Given the description of an element on the screen output the (x, y) to click on. 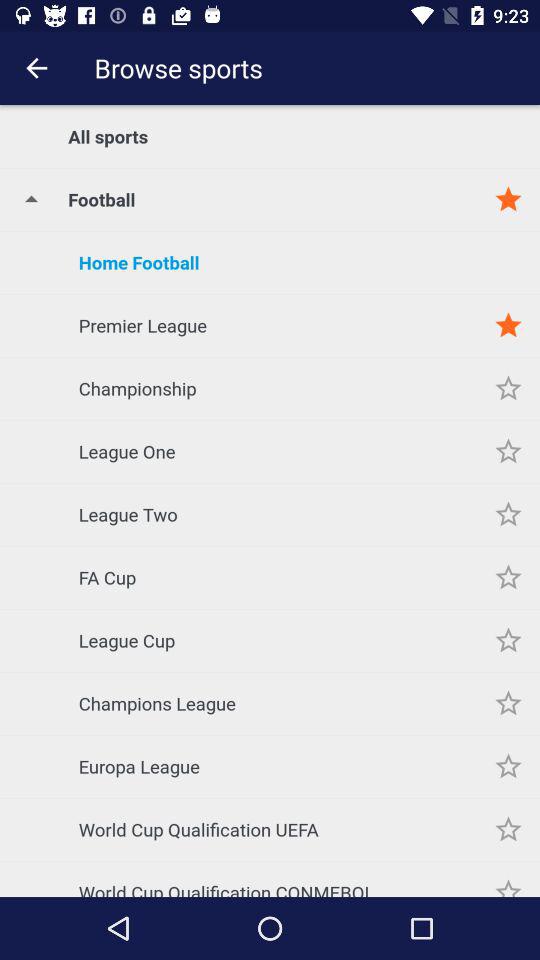
select favorite (508, 640)
